Given the description of an element on the screen output the (x, y) to click on. 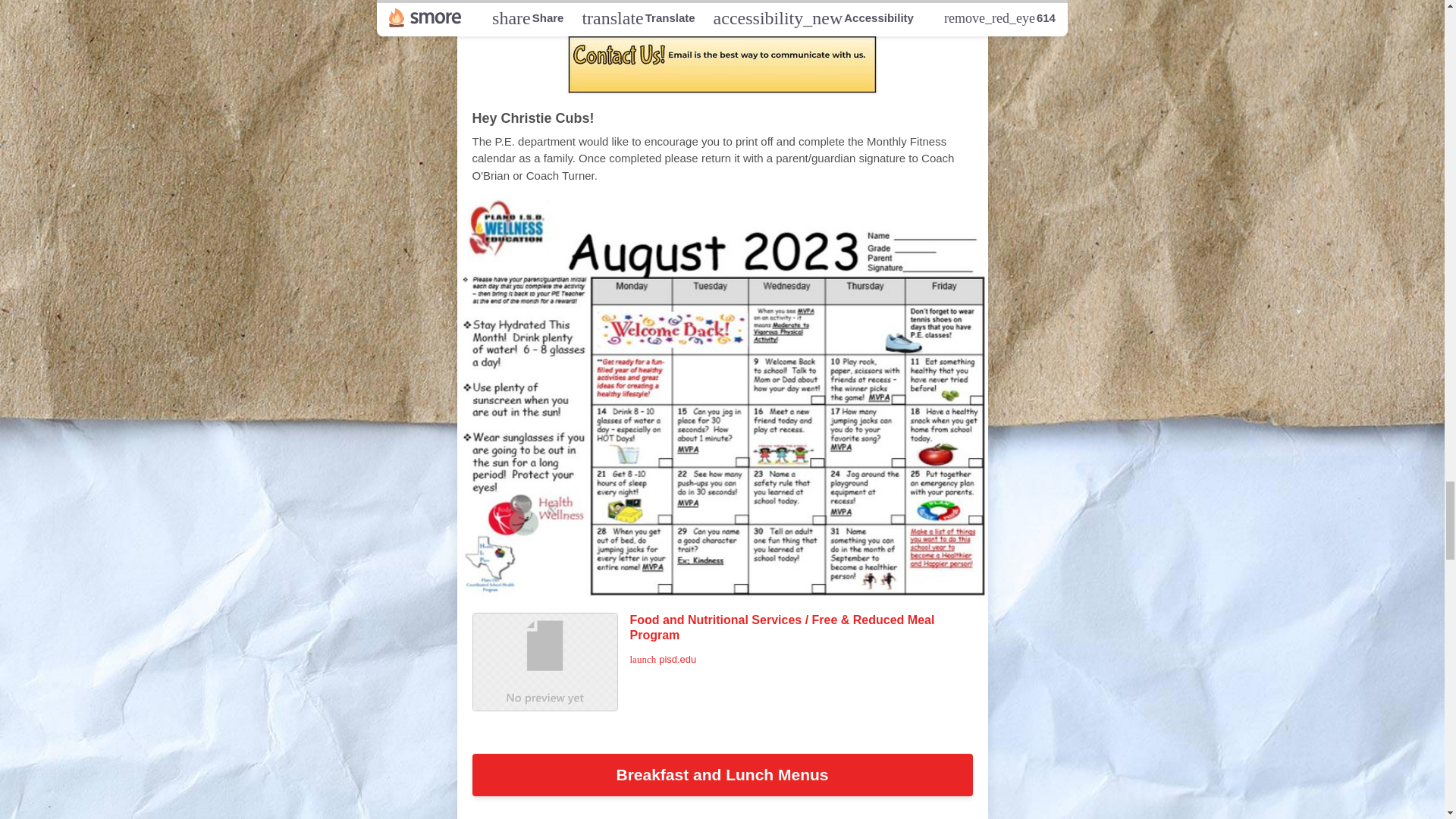
Breakfast and Lunch Menus (721, 774)
